Given the description of an element on the screen output the (x, y) to click on. 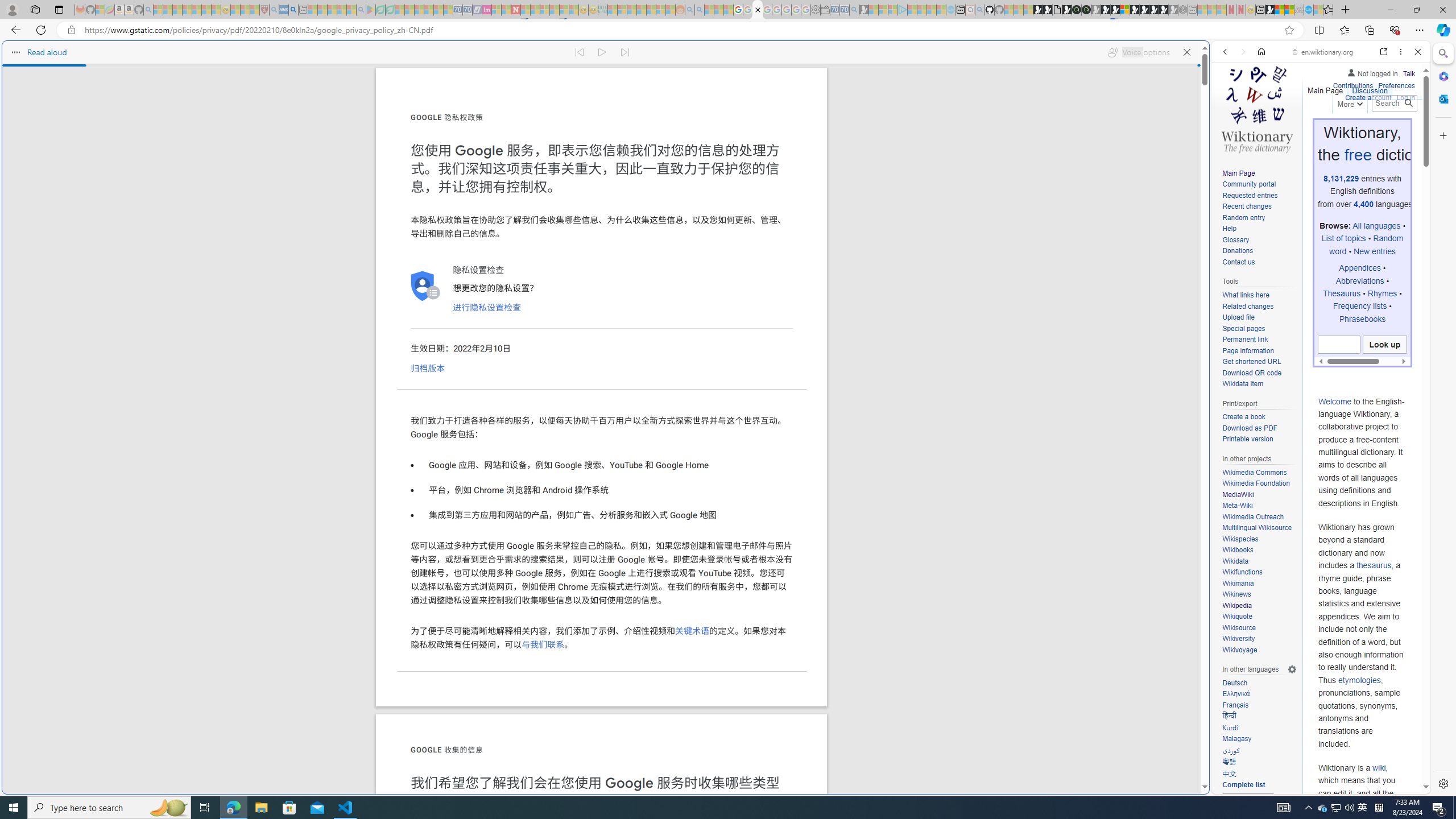
Download QR code (1259, 373)
Forward (1242, 51)
free (1357, 154)
Abbreviations (1359, 280)
Complete list (1243, 784)
Close split screen (1208, 57)
Play Zoo Boom in your browser | Games from Microsoft Start (1047, 9)
Permanent link (1259, 339)
